Given the description of an element on the screen output the (x, y) to click on. 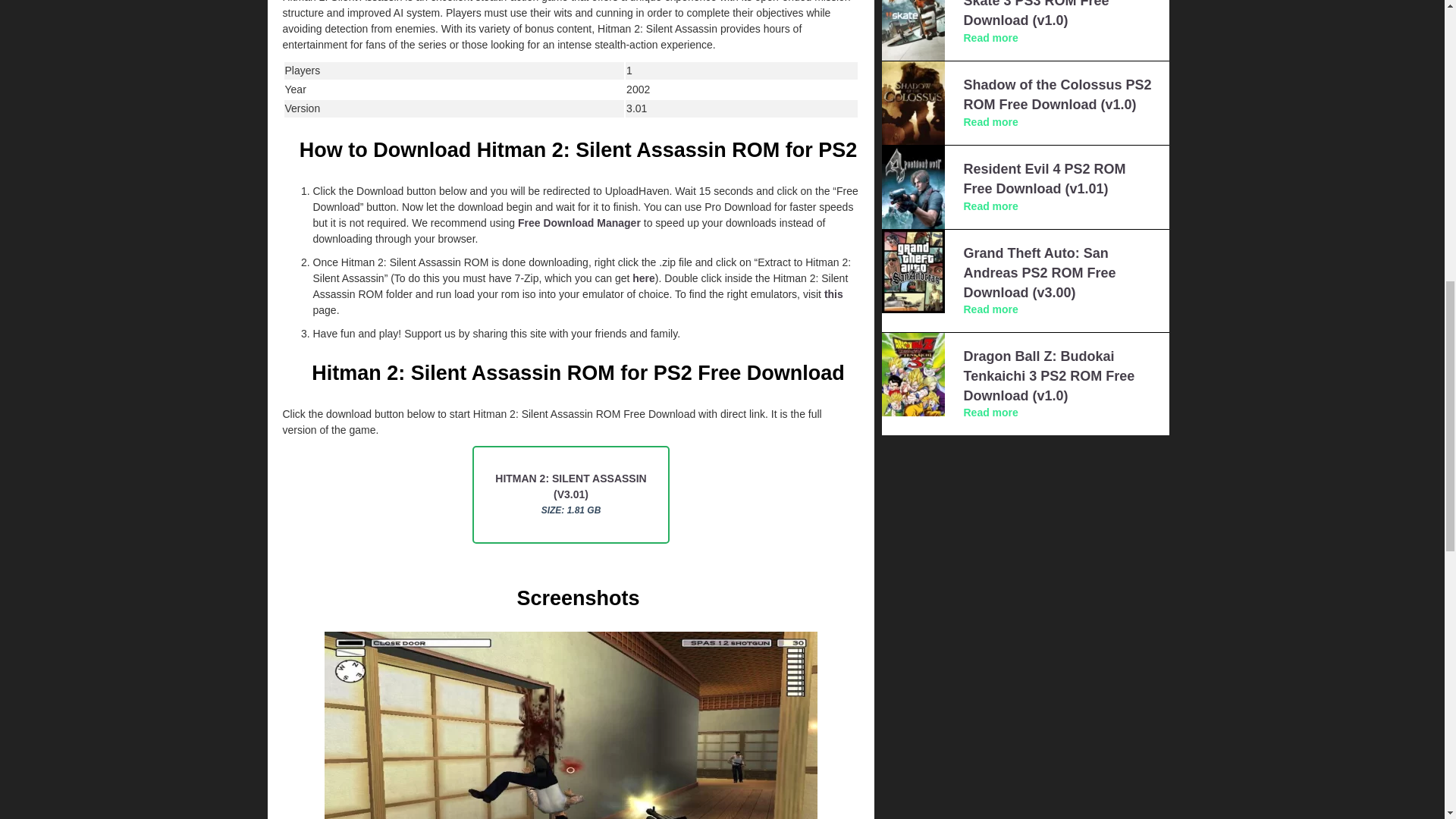
this (833, 294)
Read more (989, 37)
Read more (989, 309)
Read more (989, 205)
here (643, 277)
Read more (989, 121)
Free Download Manager (579, 223)
